Given the description of an element on the screen output the (x, y) to click on. 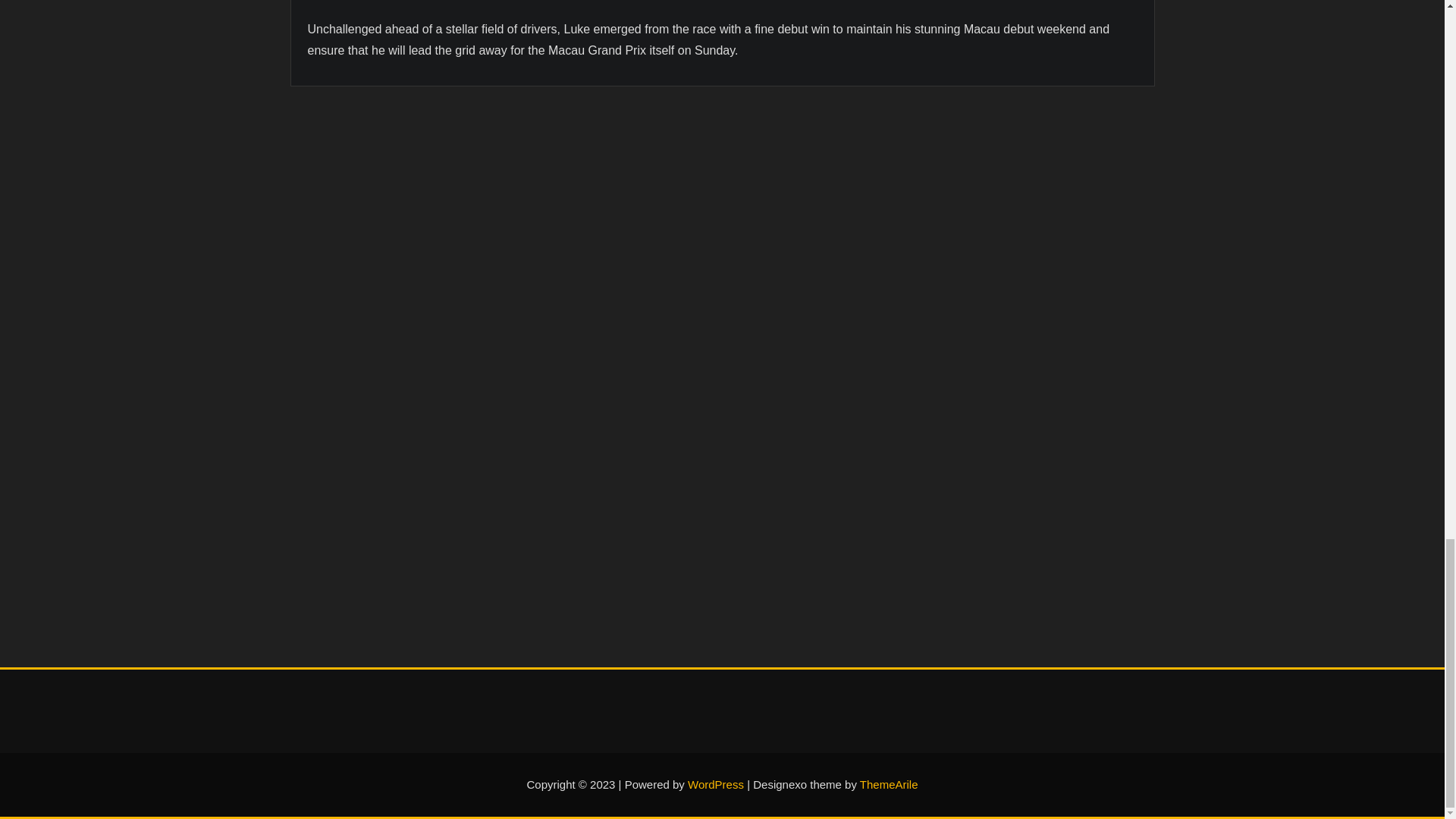
Submit (360, 555)
WordPress (715, 784)
ThemeArile (889, 784)
